Given the description of an element on the screen output the (x, y) to click on. 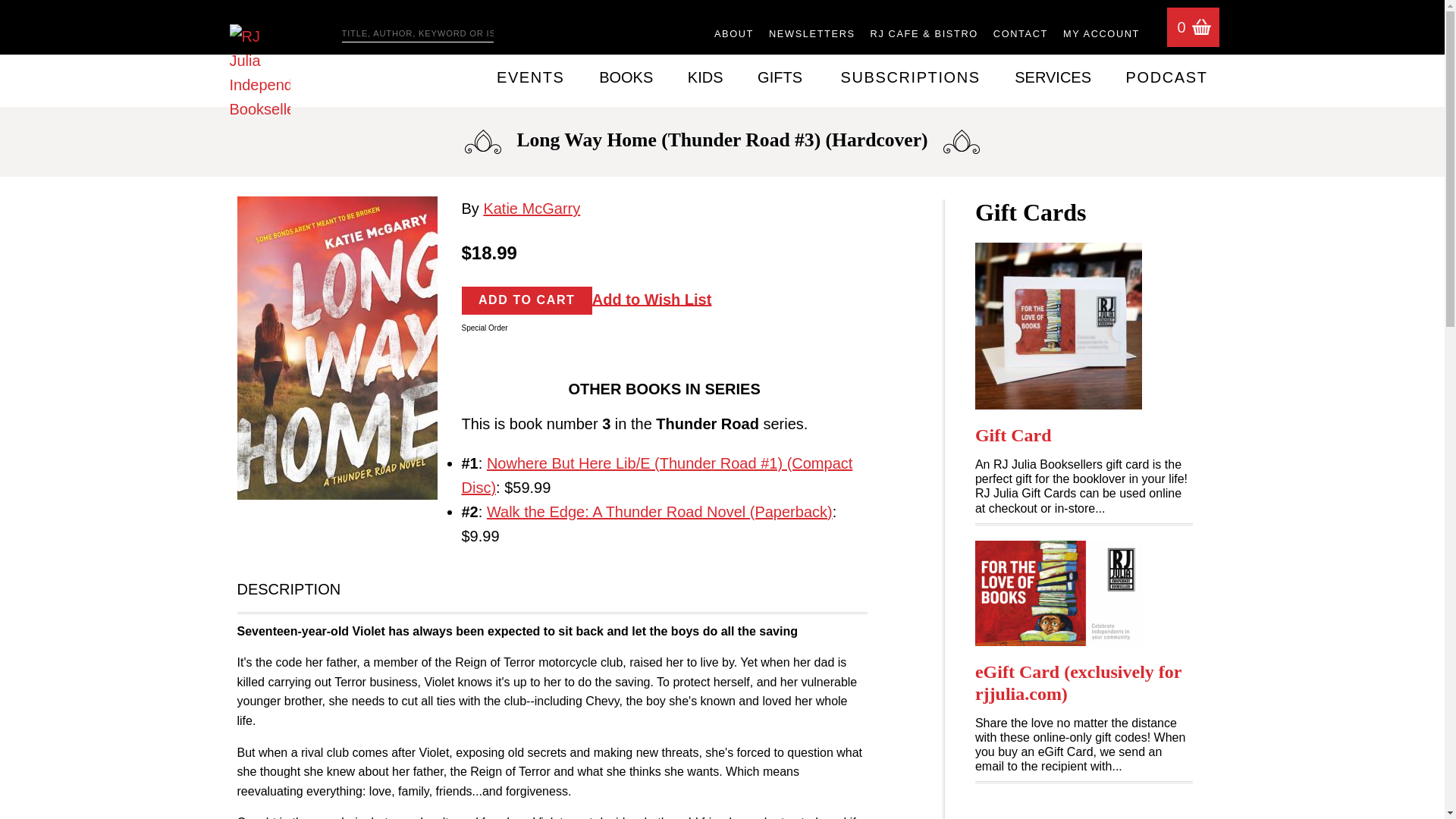
SUBSCRIPTIONS (910, 76)
Enter the terms you wish to search for. (416, 34)
ABOUT (734, 35)
NEWSLETTERS (812, 35)
Search (514, 29)
EVENTS (530, 76)
MY ACCOUNT (1101, 35)
CONTACT (1020, 35)
Search (514, 29)
Add to Cart (526, 300)
